Given the description of an element on the screen output the (x, y) to click on. 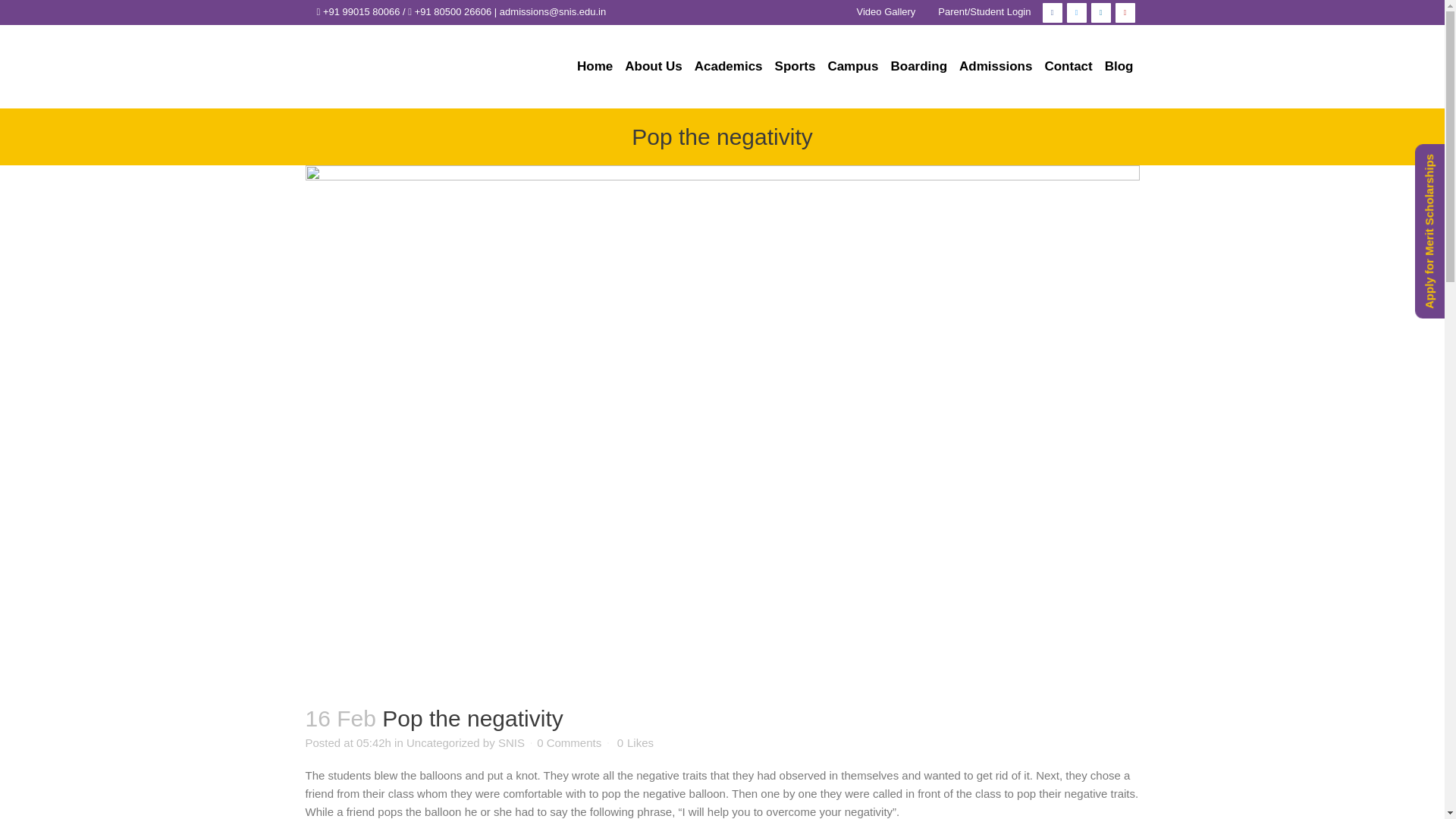
Video Gallery (886, 11)
Like this (635, 742)
Academics (728, 66)
